Given the description of an element on the screen output the (x, y) to click on. 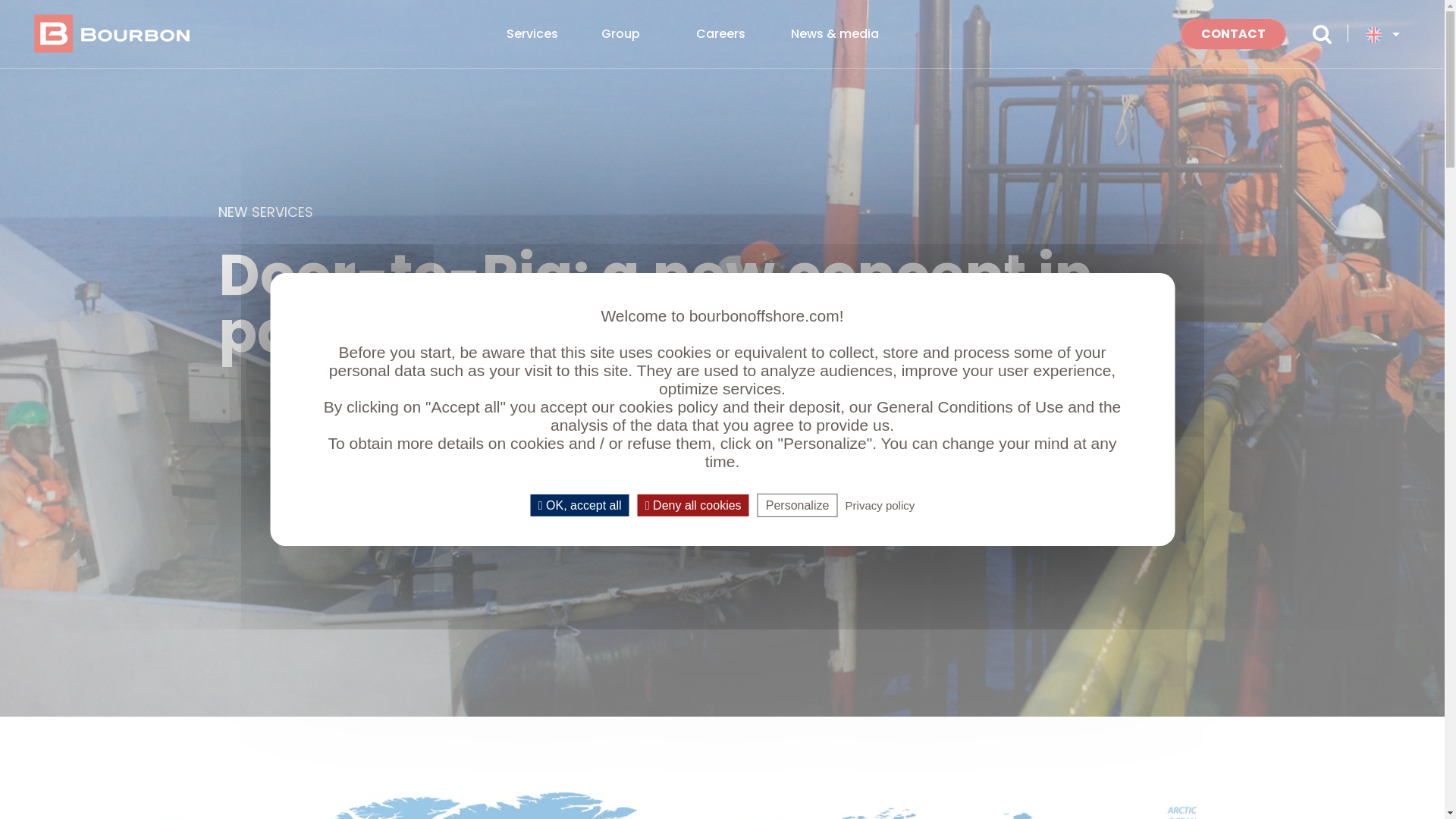
Search Element type: text (1321, 33)
OK, accept all Element type: text (579, 505)
Personalize Element type: text (797, 505)
Home Element type: hover (116, 34)
CONTACT Element type: text (1233, 33)
Skip to main content Element type: text (0, 0)
Deny all cookies Element type: text (693, 505)
Privacy policy Element type: text (879, 505)
